Given the description of an element on the screen output the (x, y) to click on. 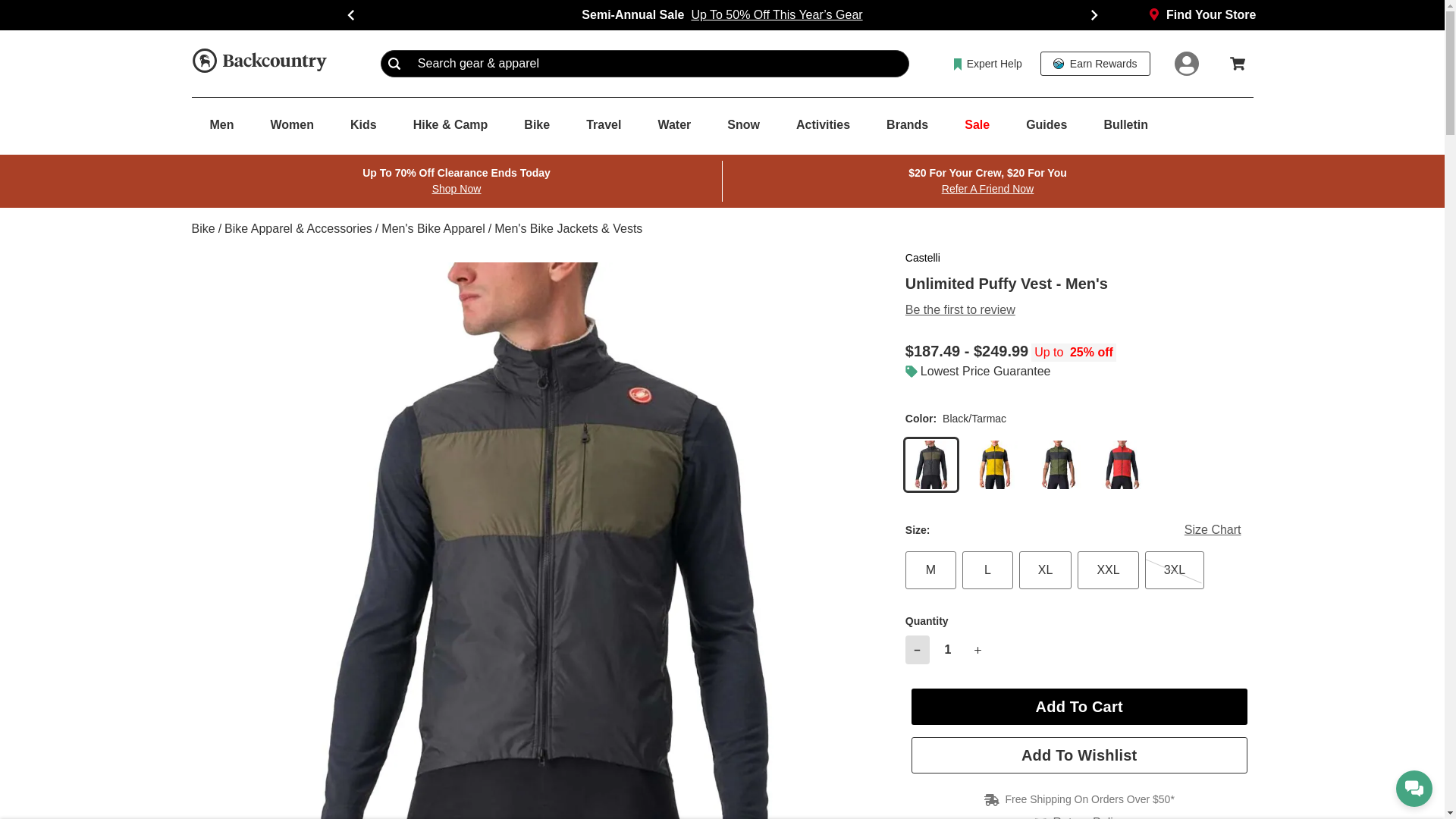
Men (220, 125)
Find Your Store (1202, 14)
Cart, Contains 0 Items (1237, 63)
Earn Rewards (1095, 63)
Home Page (258, 63)
